Given the description of an element on the screen output the (x, y) to click on. 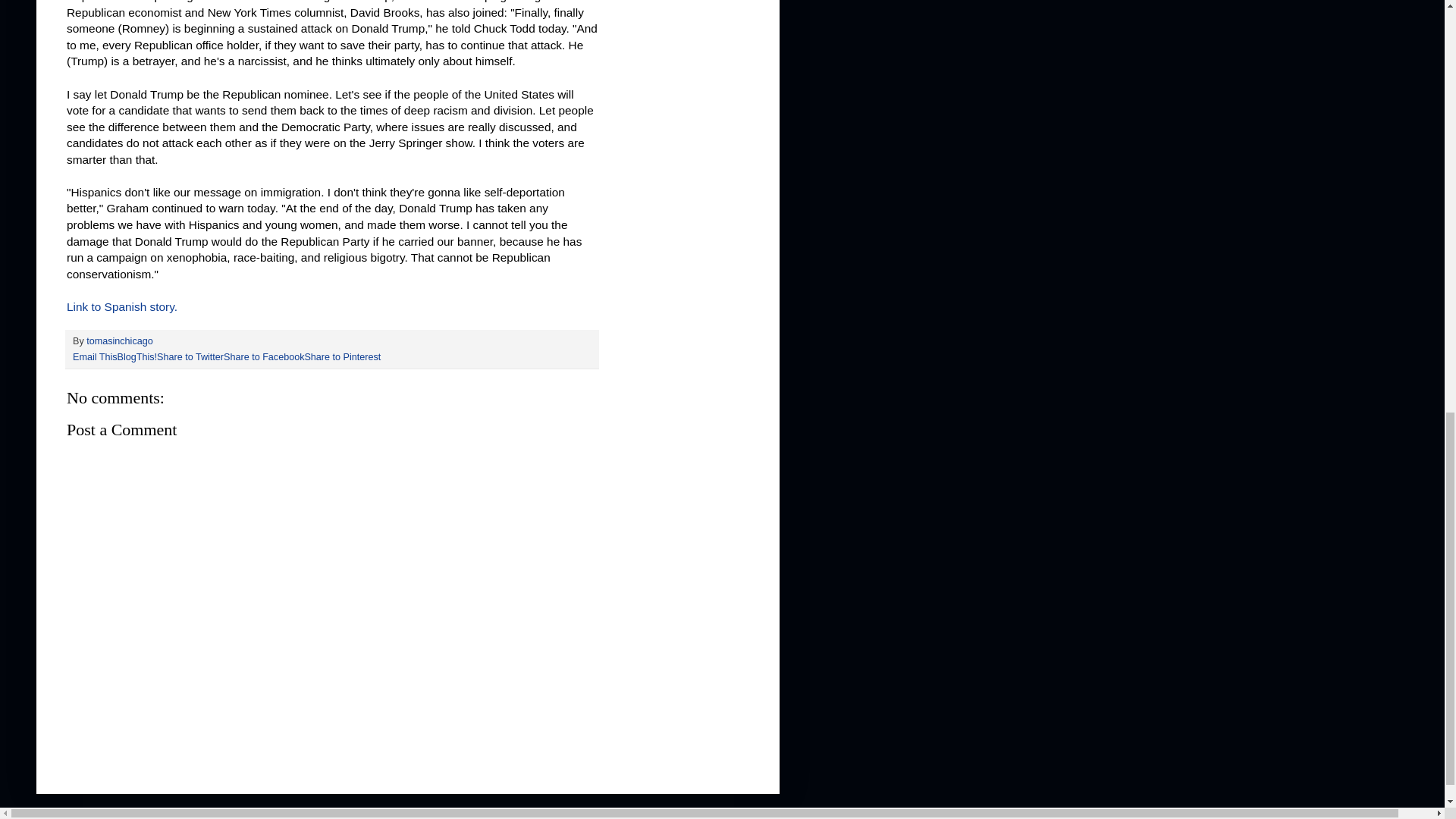
Share to Twitter (190, 357)
author profile (118, 340)
Share to Facebook (264, 357)
BlogThis! (137, 357)
Email This (94, 357)
Share to Twitter (190, 357)
Share to Pinterest (342, 357)
Email This (94, 357)
Link to Spanish story. (121, 306)
Share to Pinterest (342, 357)
tomasinchicago (118, 340)
Share to Facebook (264, 357)
BlogThis! (137, 357)
